Given the description of an element on the screen output the (x, y) to click on. 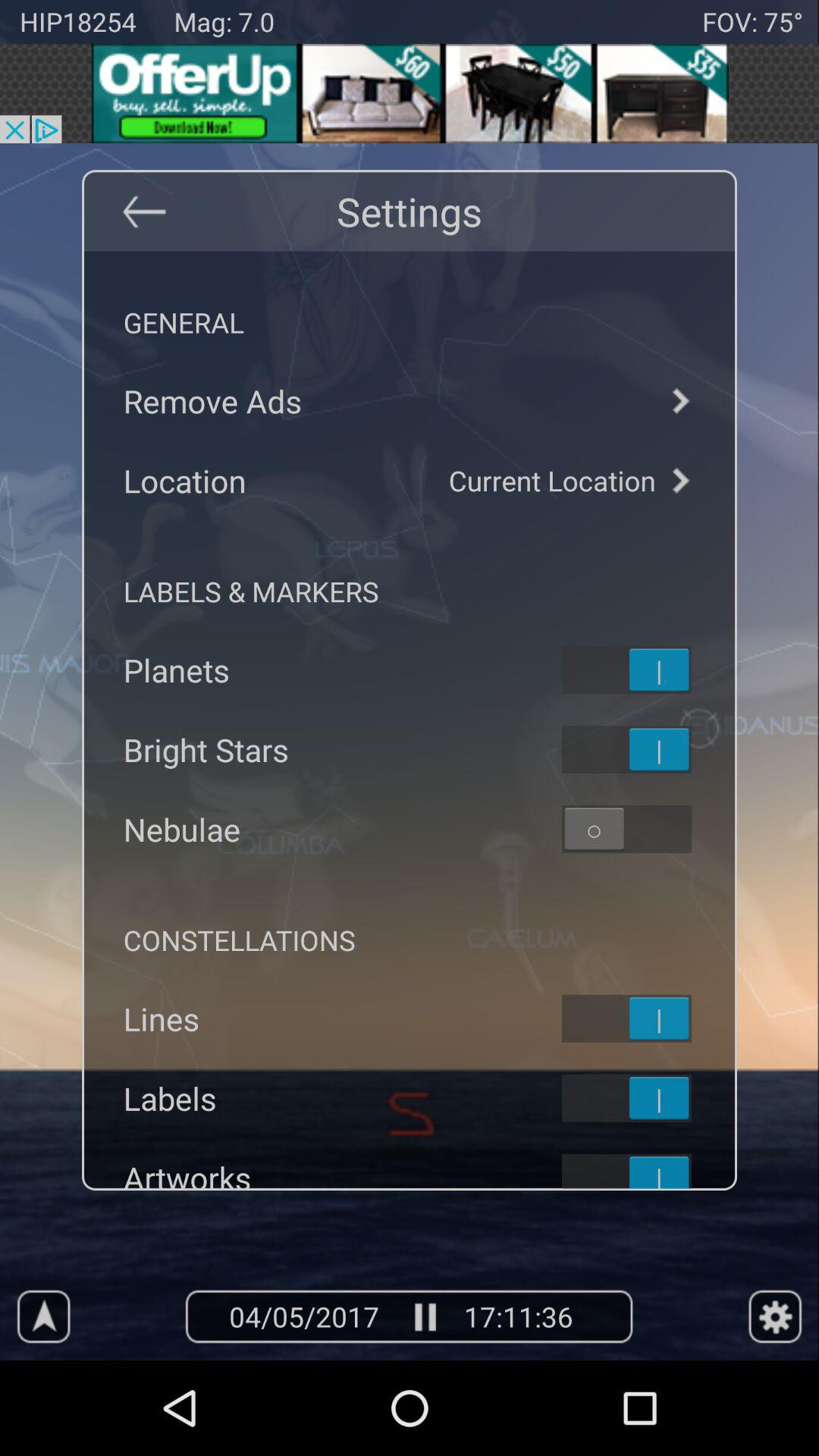
click to next option (679, 400)
